Given the description of an element on the screen output the (x, y) to click on. 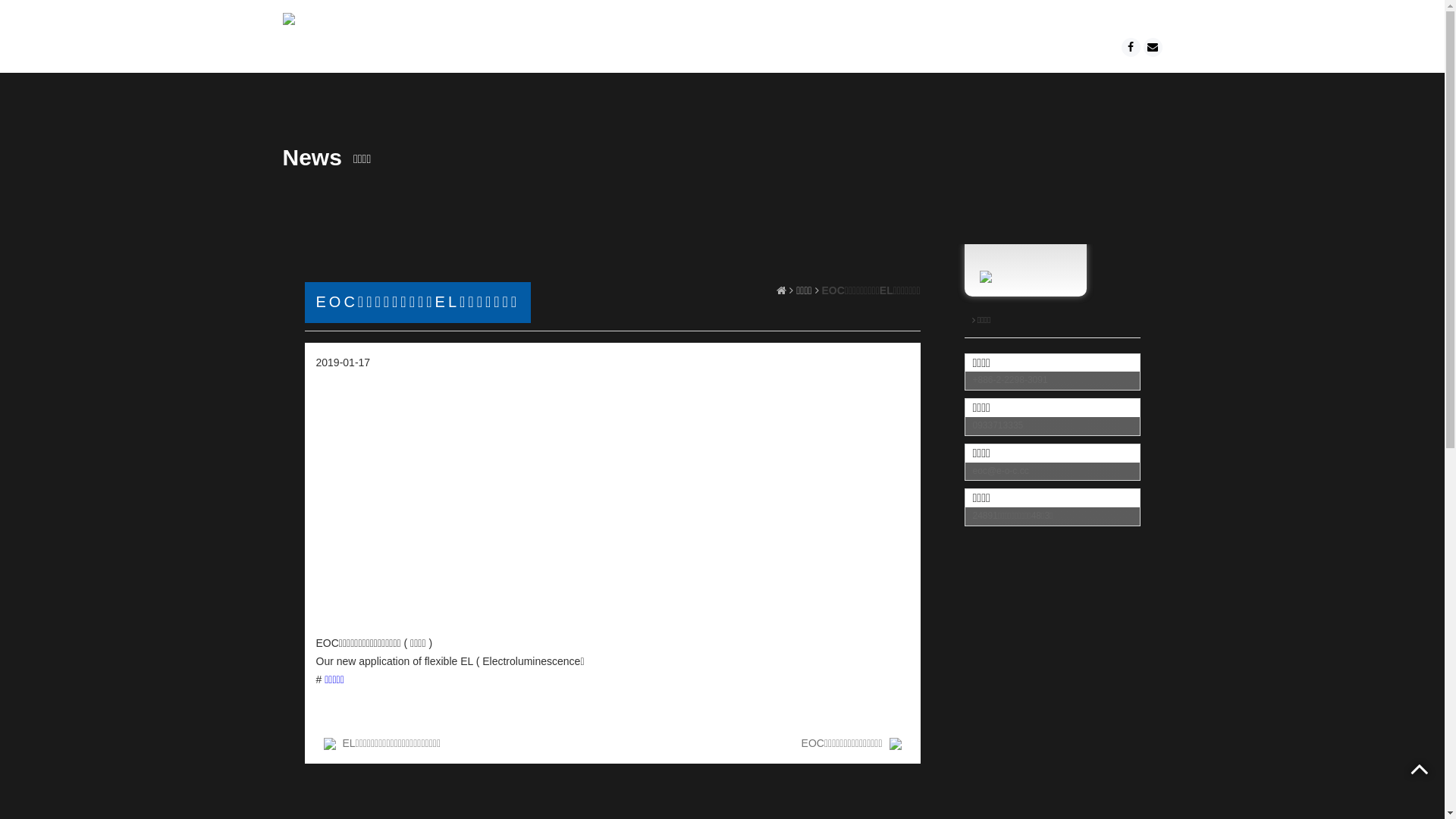
eoc@e-o-c.cc Element type: text (1000, 470)
English Element type: text (1126, 20)
0933713335 Element type: text (997, 425)
+886-2-2298-3091 Element type: text (1009, 379)
